Given the description of an element on the screen output the (x, y) to click on. 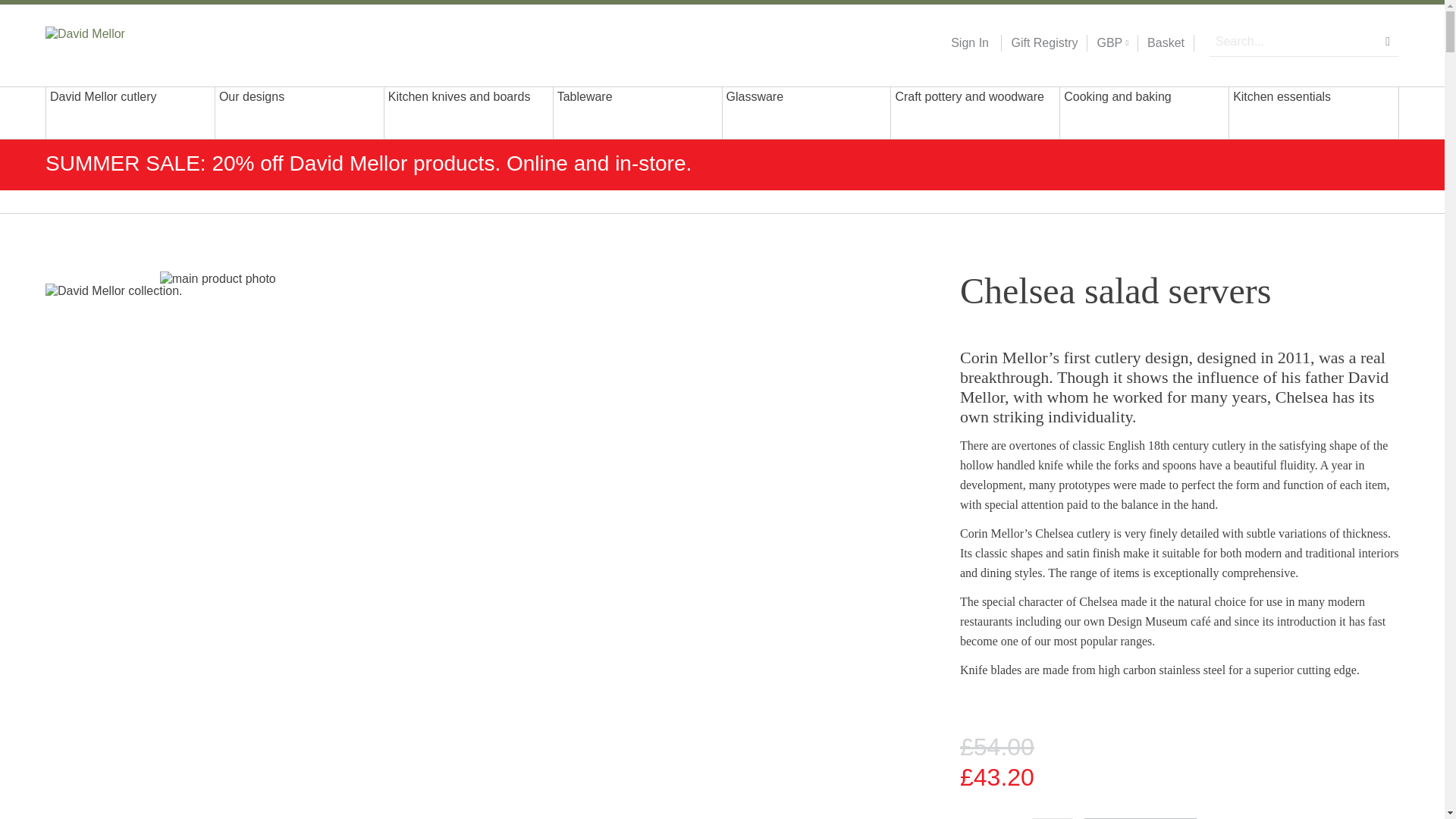
David Mellor cutlery (130, 112)
Search (1388, 41)
1 (1052, 818)
Gift Registry (1039, 43)
David Mellor (143, 42)
Qty (1052, 818)
Basket (1166, 43)
Sign In (969, 43)
Search (1388, 41)
